Given the description of an element on the screen output the (x, y) to click on. 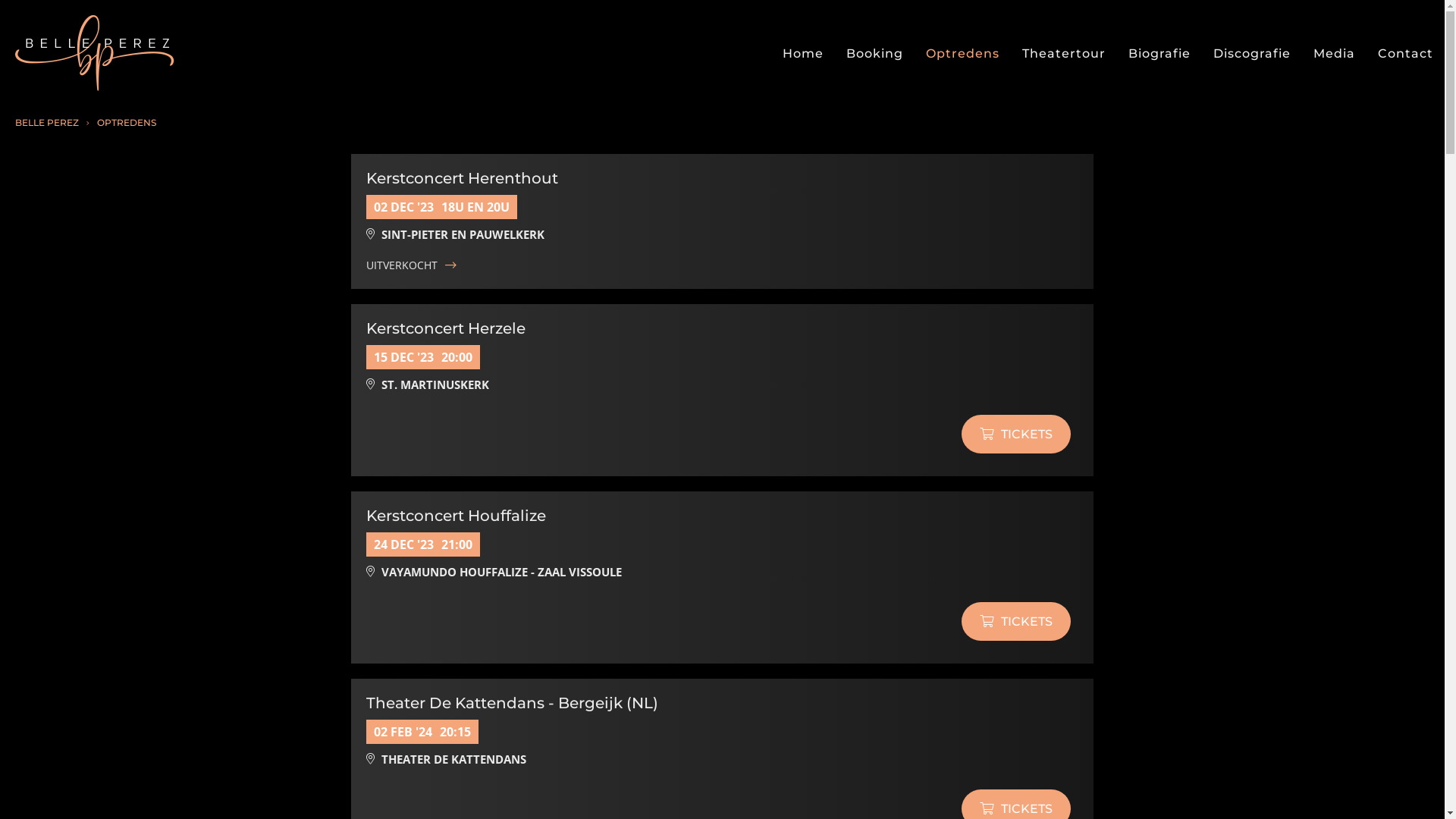
Biografie Element type: text (1159, 52)
Theater De Kattendans - Bergeijk (NL) Element type: text (512, 702)
Kerstconcert Herzele Element type: text (445, 328)
TICKETS Element type: text (1015, 433)
Optredens Element type: text (962, 52)
Discografie Element type: text (1251, 52)
Theatertour Element type: text (1063, 52)
OPTREDENS Element type: text (124, 122)
Media Element type: text (1333, 52)
Kerstconcert Herenthout Element type: text (462, 178)
BELLE PEREZ Element type: text (46, 122)
Belle Perez Element type: hover (94, 53)
TICKETS Element type: text (1015, 621)
Home Element type: text (803, 52)
Booking Element type: text (874, 52)
Kerstconcert Houffalize Element type: text (456, 515)
Contact Element type: text (1405, 52)
